Given the description of an element on the screen output the (x, y) to click on. 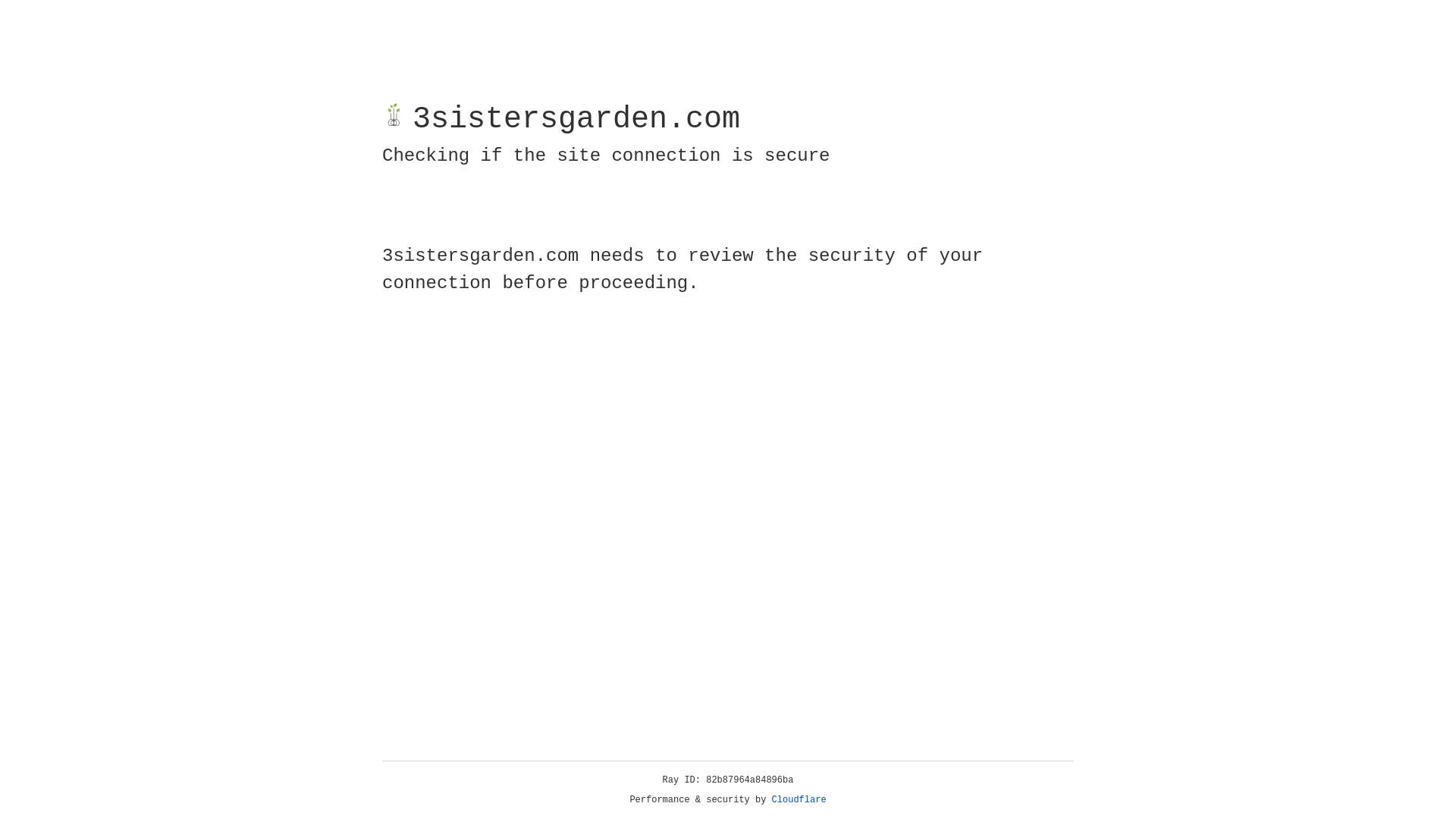
Cloudflare Element type: text (798, 799)
